Given the description of an element on the screen output the (x, y) to click on. 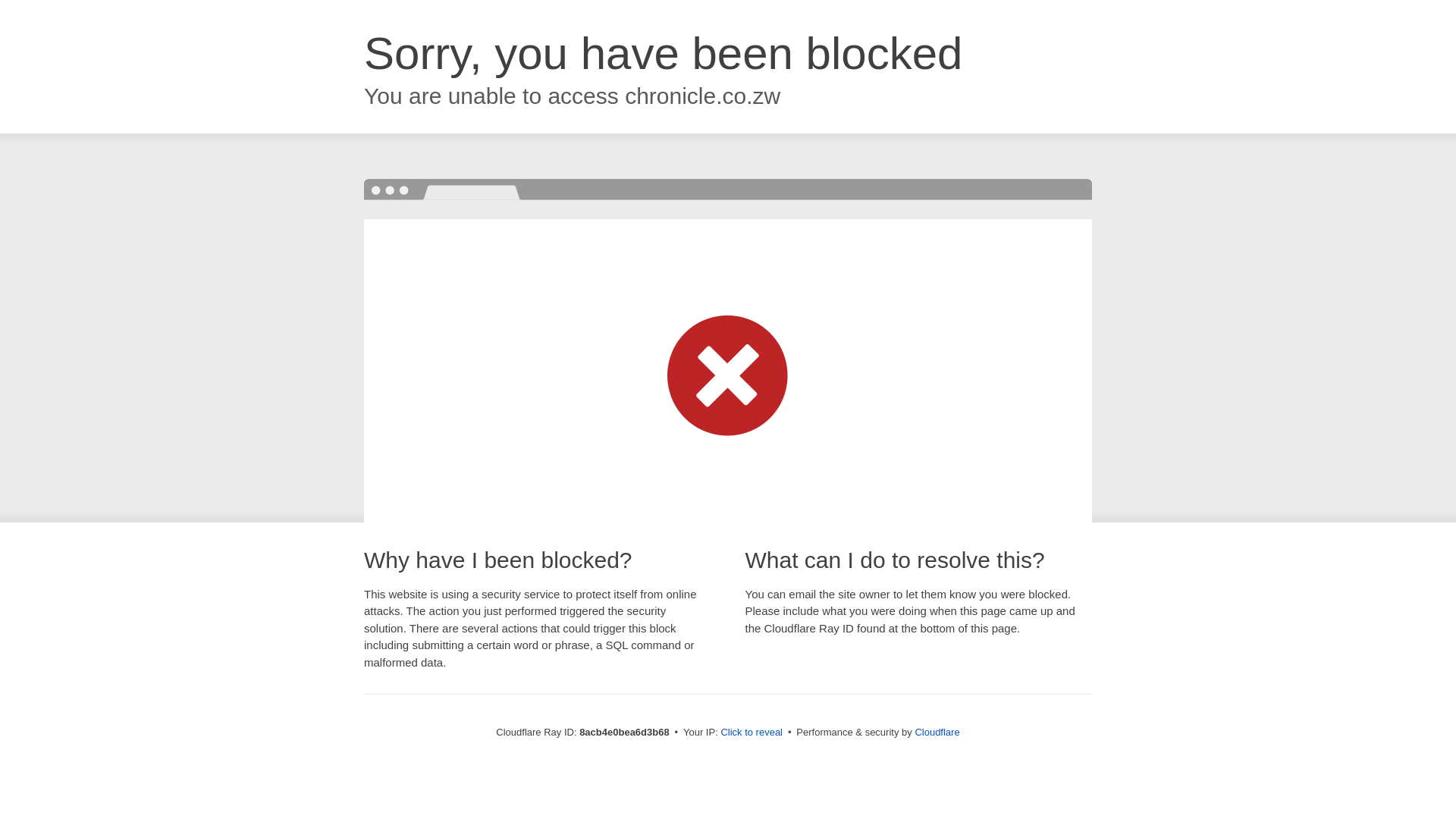
Click to reveal (751, 732)
Cloudflare (936, 731)
